Given the description of an element on the screen output the (x, y) to click on. 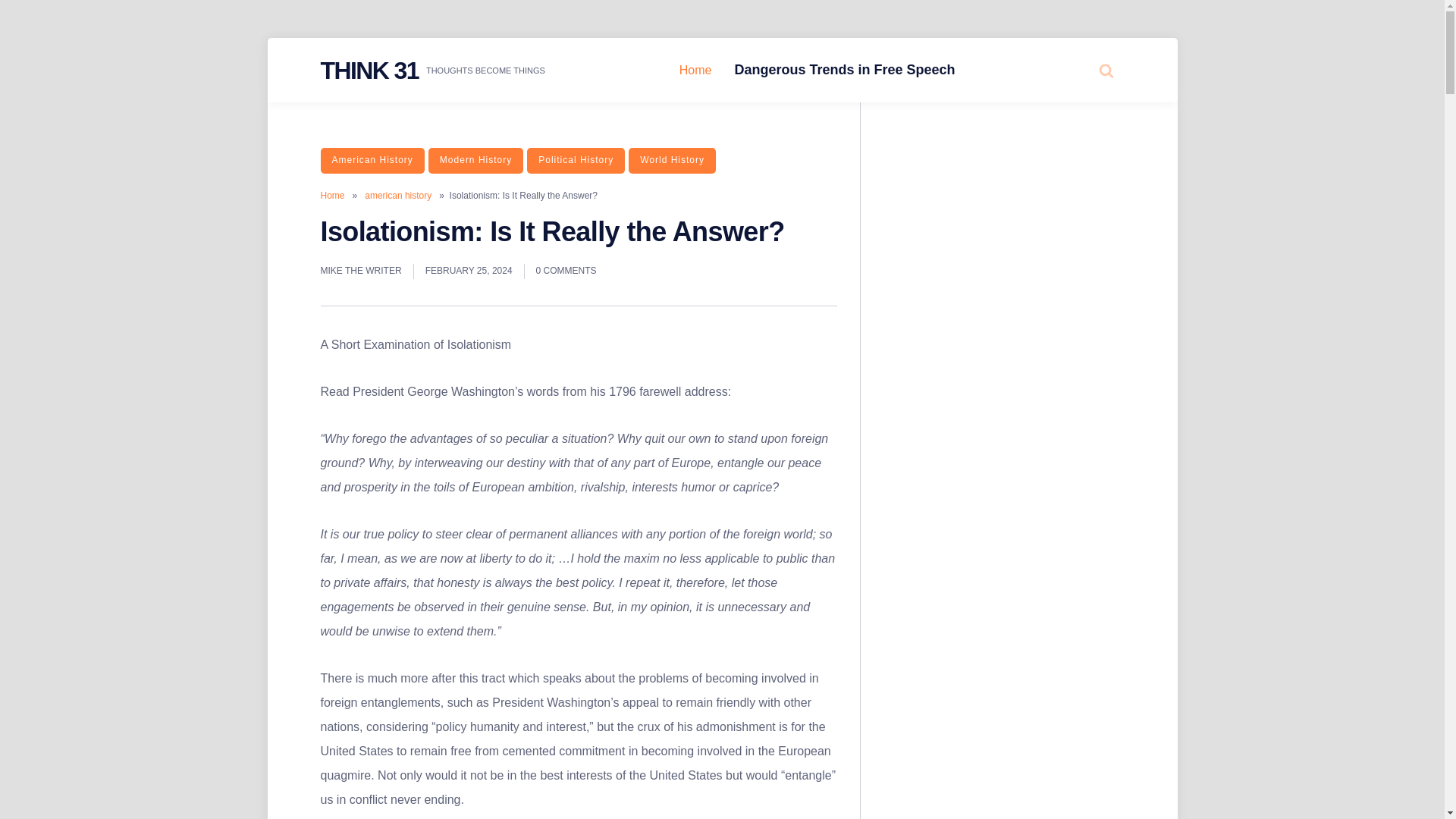
Home (331, 195)
THINK 31 (368, 69)
Modern History (475, 160)
American History (371, 160)
Dangerous Trends in Free Speech (844, 69)
Search (1074, 127)
Home (695, 70)
american history (397, 195)
World History (672, 160)
Political History (575, 160)
